Given the description of an element on the screen output the (x, y) to click on. 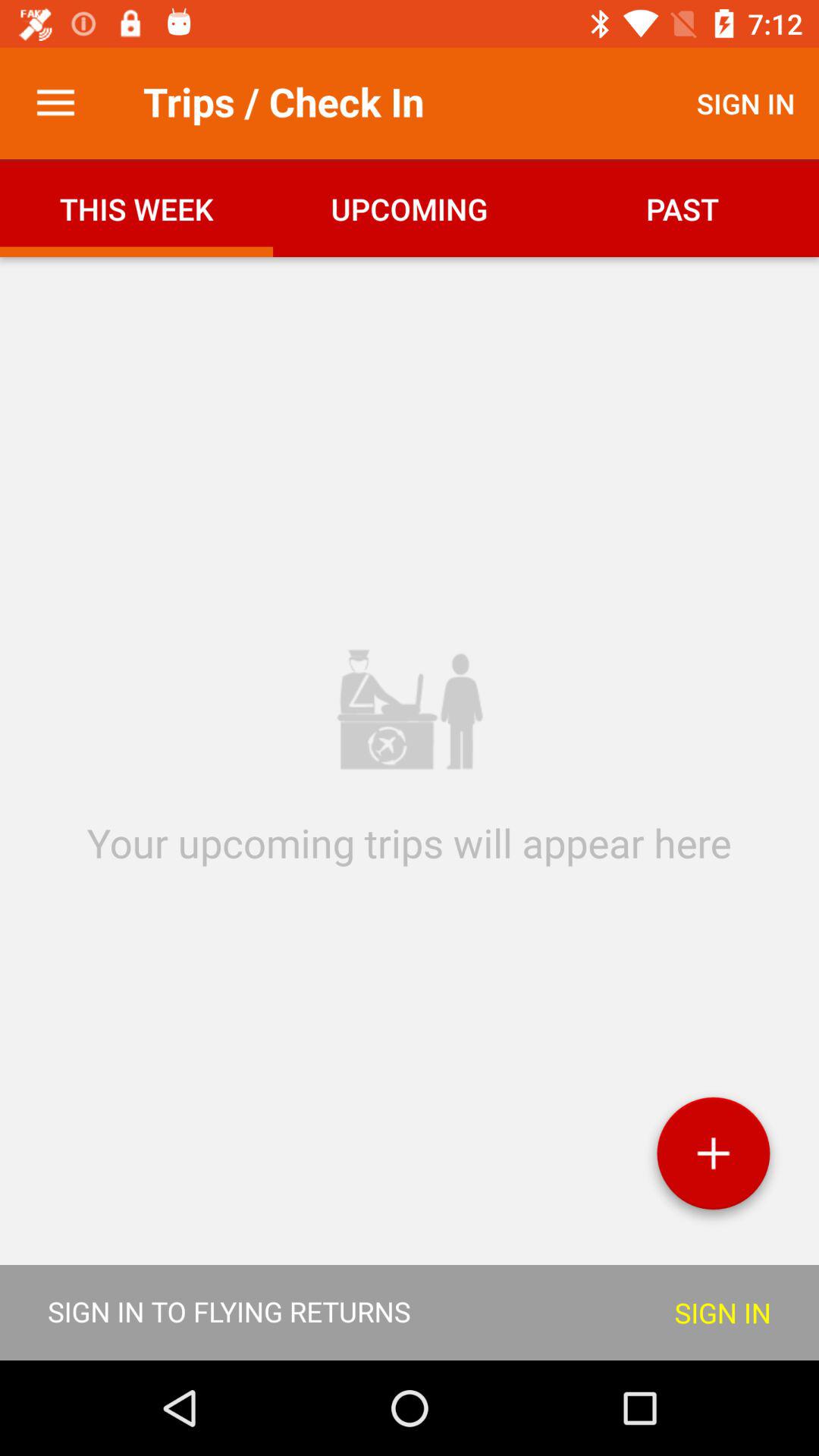
plus (713, 1159)
